Given the description of an element on the screen output the (x, y) to click on. 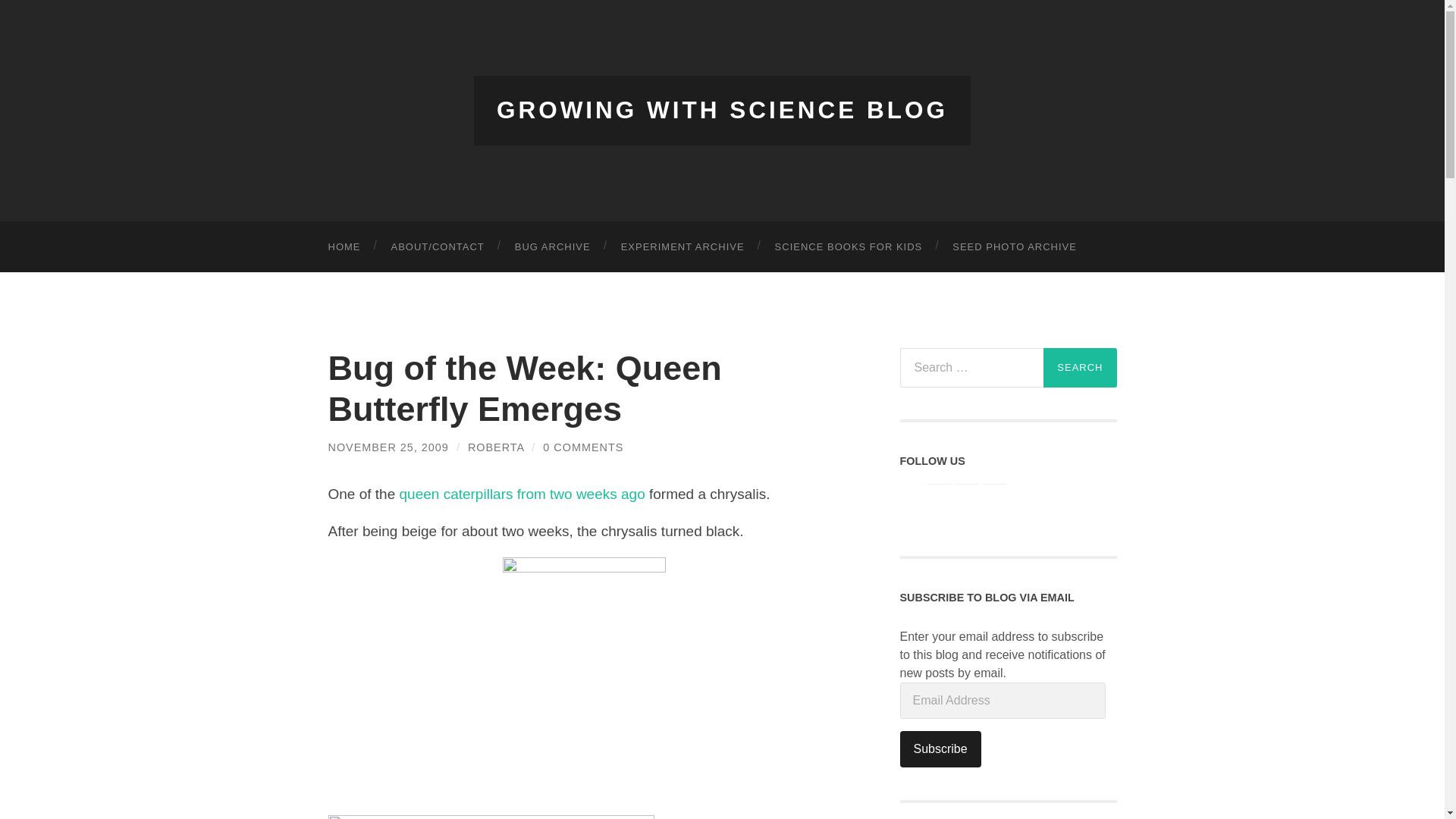
ROBERTA (495, 447)
NOVEMBER 25, 2009 (387, 447)
queen butterfly chrysalis (490, 816)
Instagram (994, 504)
Pinterest (966, 504)
Subscribe (939, 749)
GROWING WITH SCIENCE BLOG (721, 109)
queen caterpillars from two weeks ago (521, 494)
SEED PHOTO ARCHIVE (1014, 246)
Posts by Roberta (495, 447)
